Given the description of an element on the screen output the (x, y) to click on. 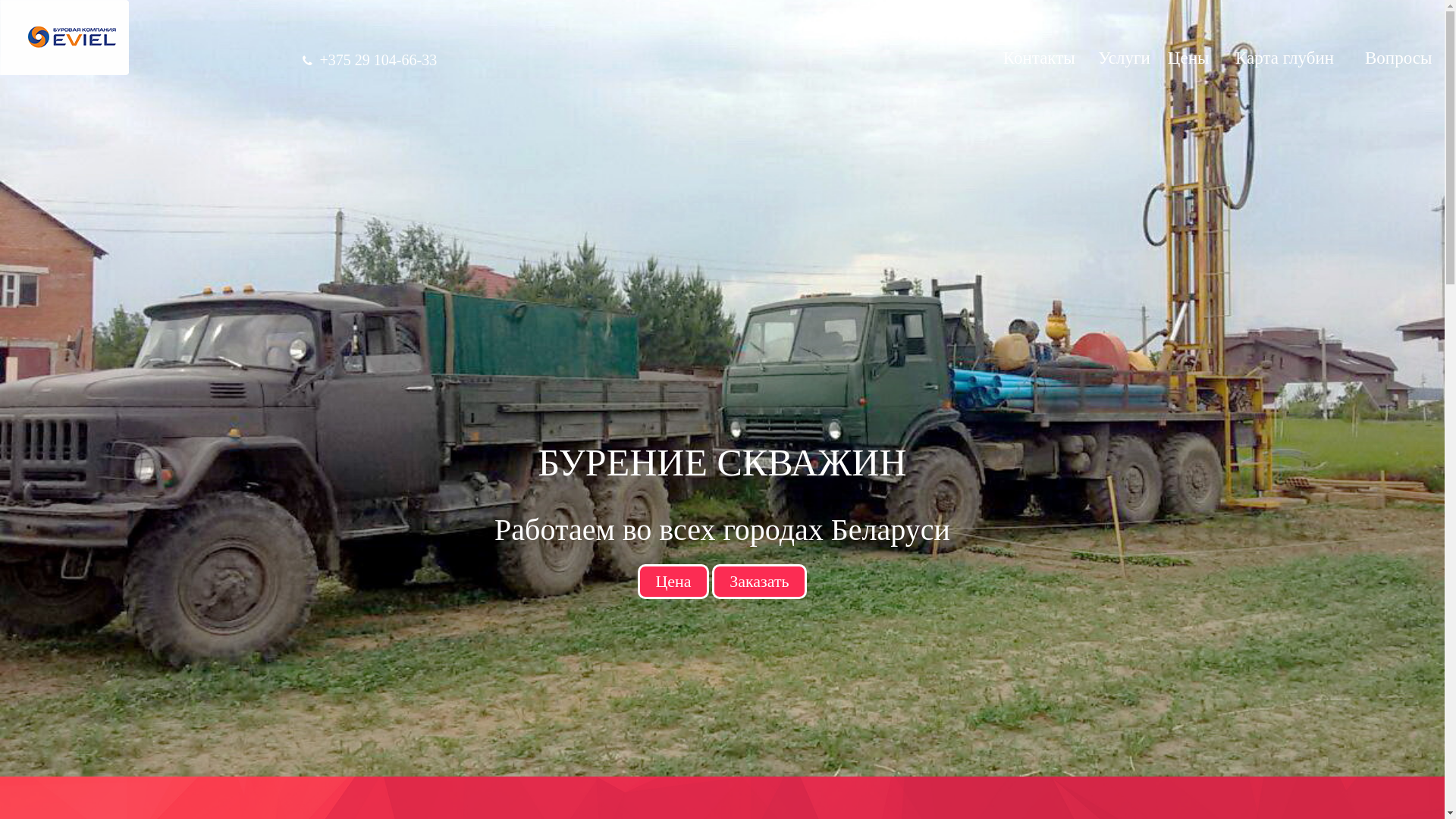
+375 29 104-66-33 Element type: text (378, 59)
